Given the description of an element on the screen output the (x, y) to click on. 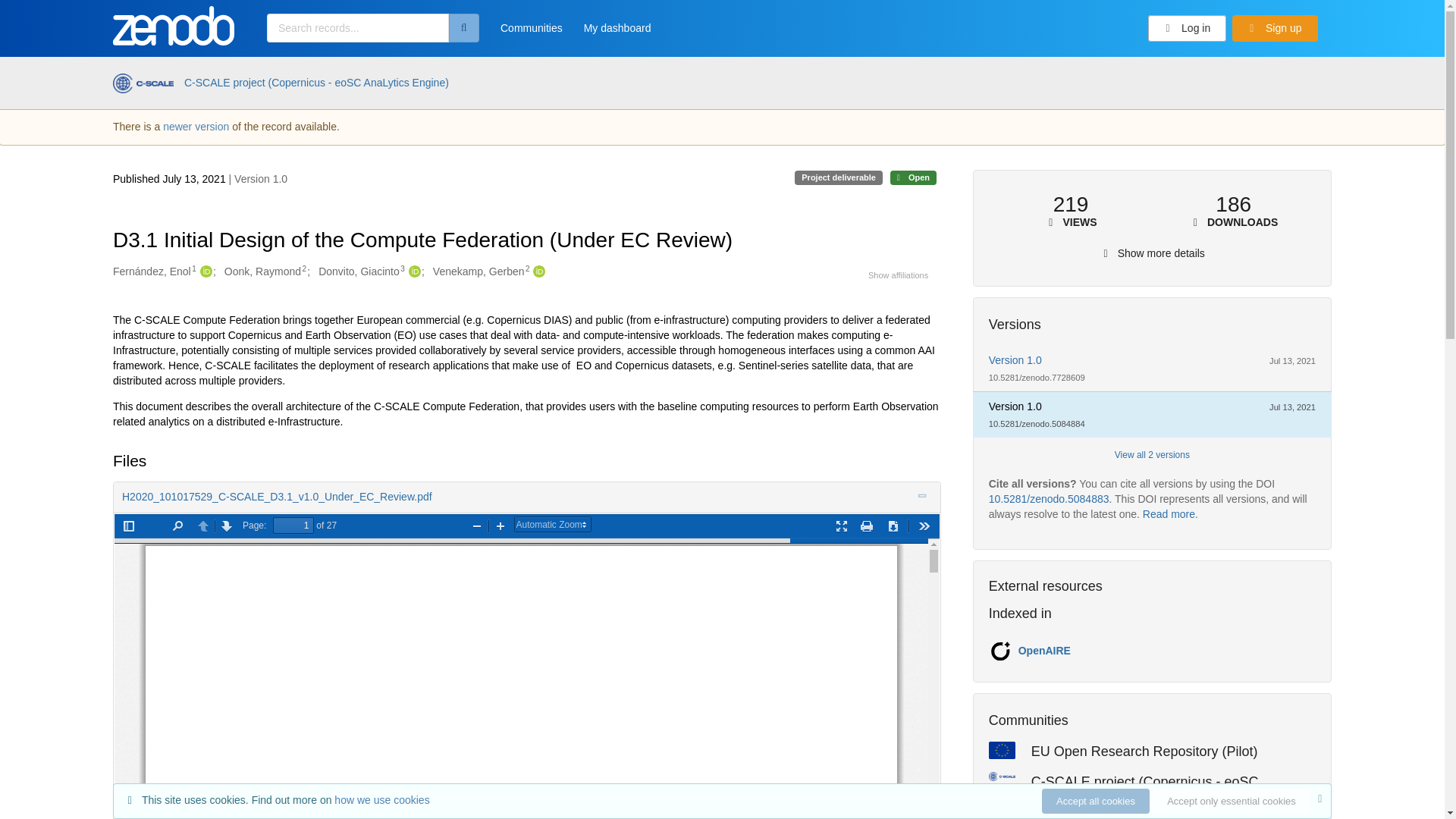
My dashboard (617, 32)
Donvito, Giacinto's ORCID profile (412, 272)
Publication date (170, 178)
View all 2 versions (1152, 455)
Skip to main (49, 17)
Oonk, Raymond2 (264, 272)
Version 1.0 (1015, 359)
newer version (195, 126)
Log in (1187, 28)
Communities (531, 32)
OpenAIRE (1043, 650)
Donvito, Giacinto3 (361, 272)
Venekamp, Gerben's ORCID profile (536, 272)
Show affiliations (898, 274)
